Given the description of an element on the screen output the (x, y) to click on. 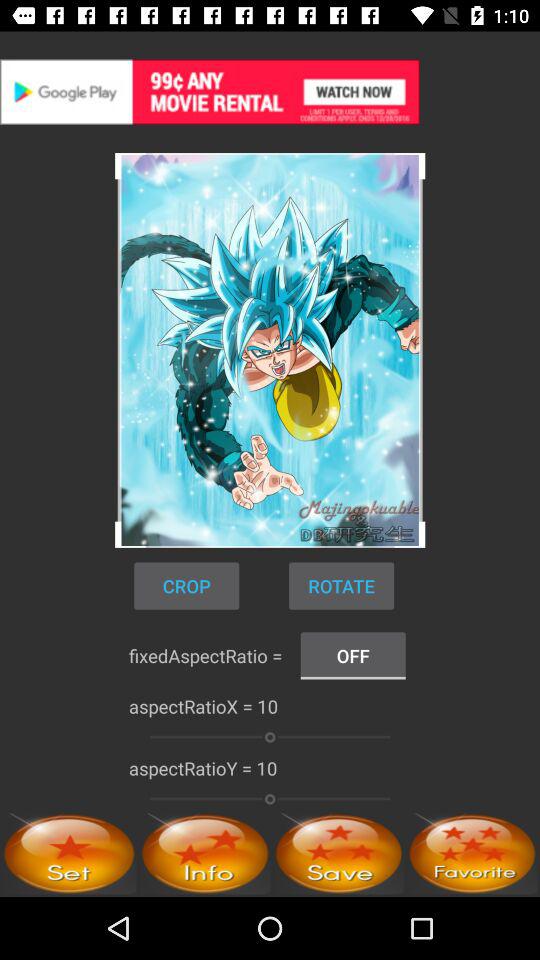
save button (338, 853)
